Given the description of an element on the screen output the (x, y) to click on. 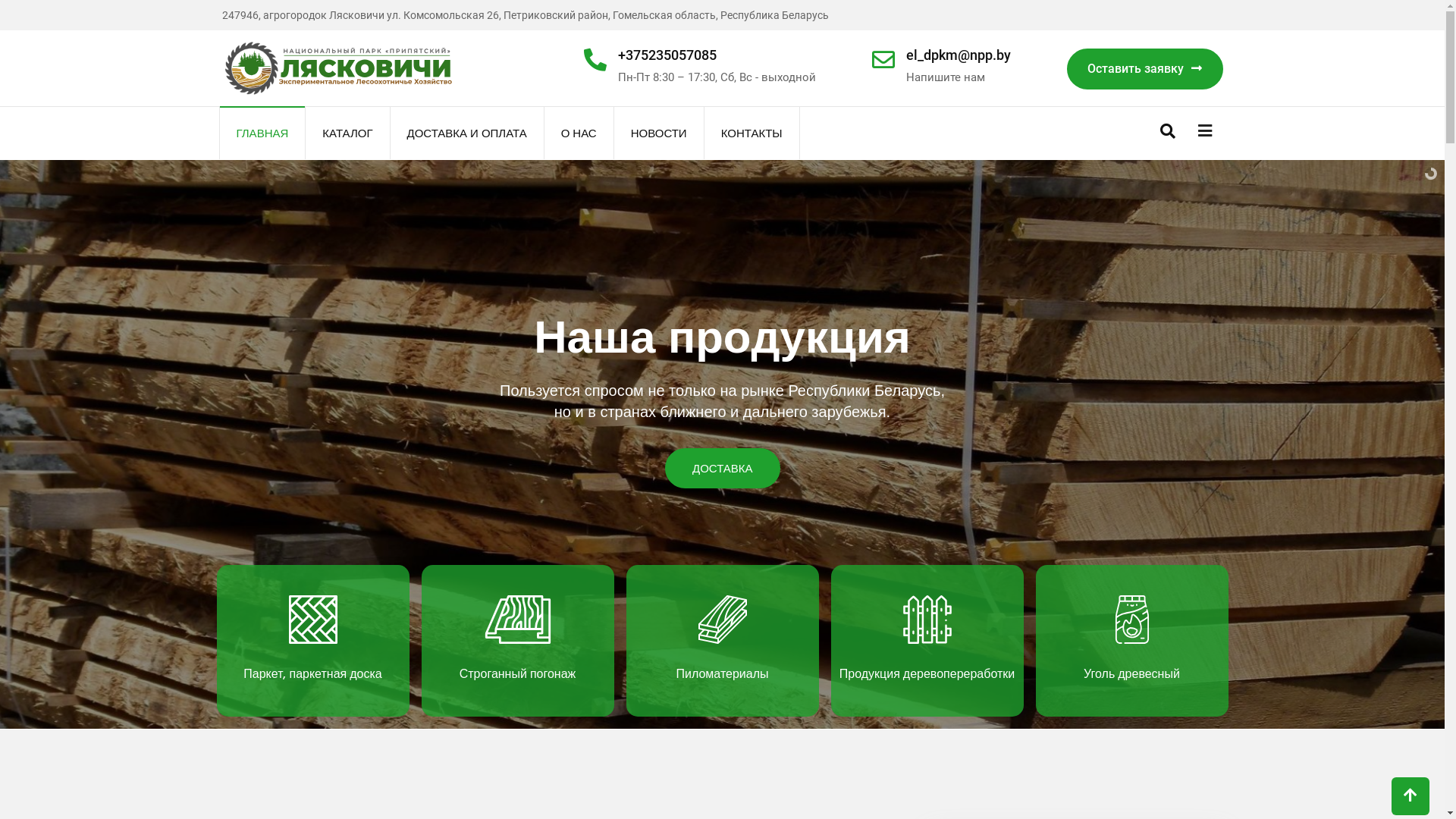
el_dpkm@npp.by Element type: text (957, 54)
+375235057085 Element type: text (666, 54)
